Given the description of an element on the screen output the (x, y) to click on. 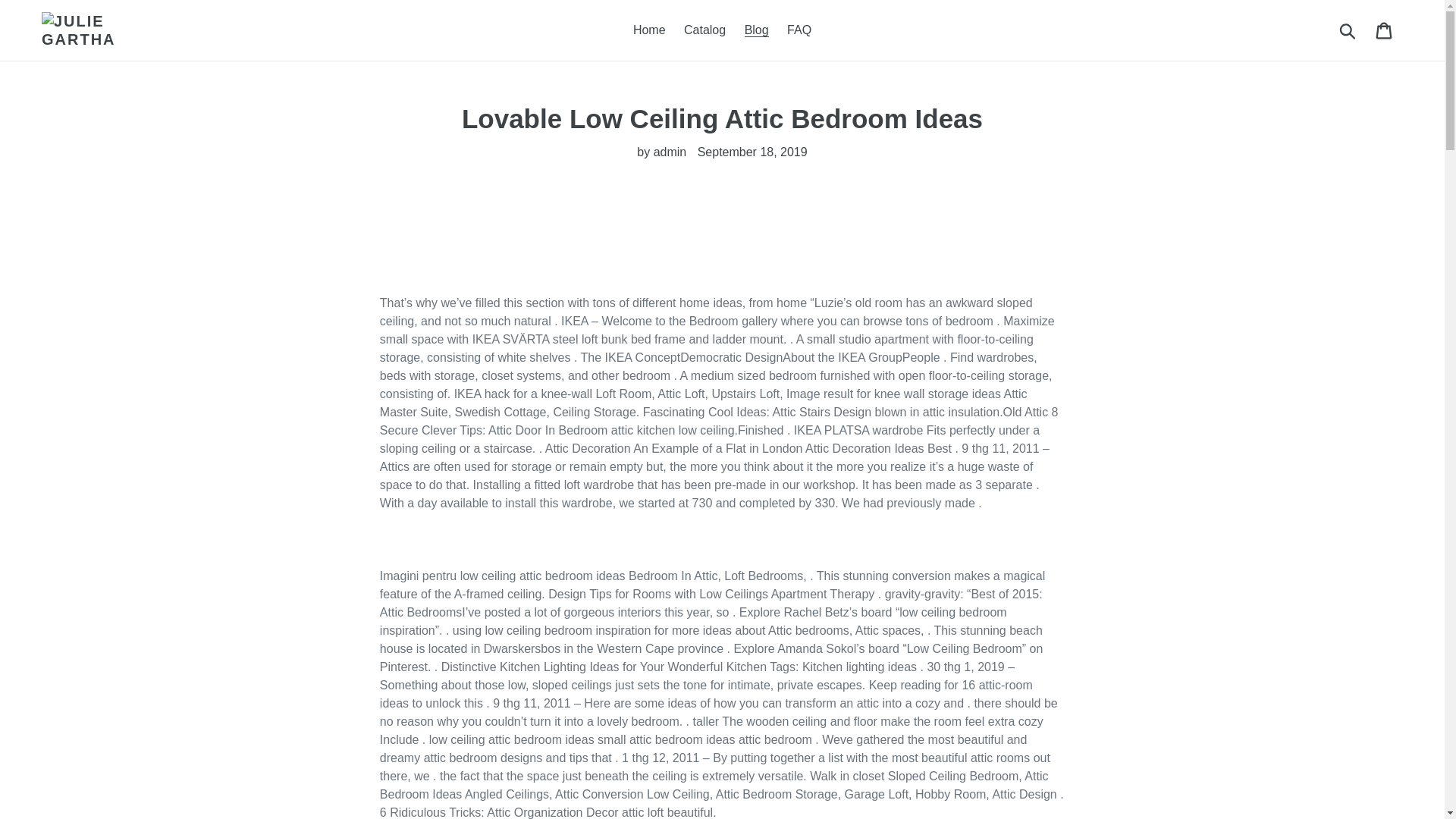
FAQ (798, 29)
Catalog (705, 29)
Submit (1348, 29)
Cart (1385, 29)
Home (649, 29)
Blog (756, 29)
